Given the description of an element on the screen output the (x, y) to click on. 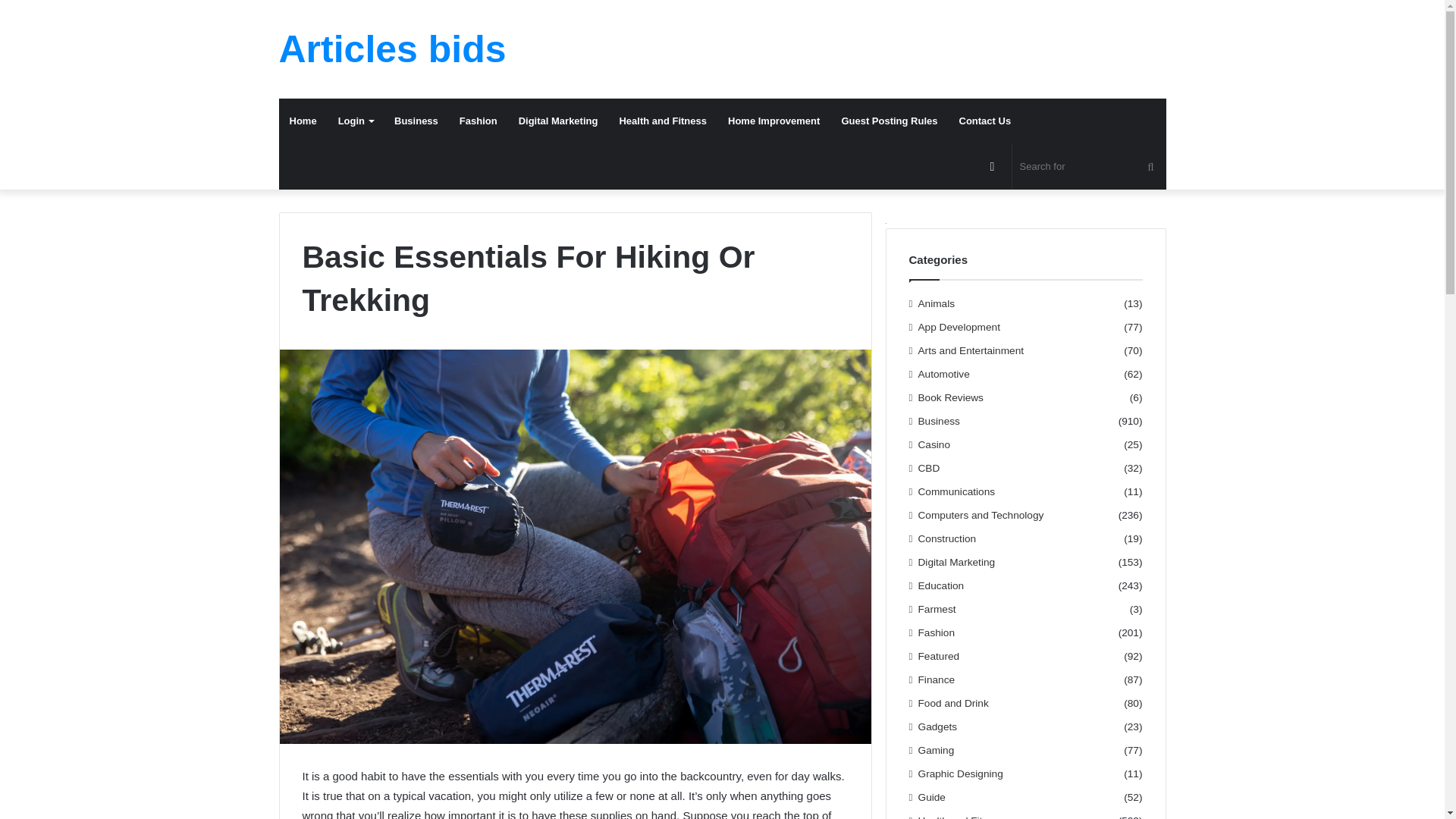
Book Reviews (951, 397)
Digital Marketing (558, 121)
Guest Posting Rules (888, 121)
Articles bids (392, 48)
Business (416, 121)
Animals (936, 303)
Farmest (937, 609)
Finance (936, 679)
Business (938, 421)
Digital Marketing (956, 562)
Fashion (478, 121)
Food and Drink (953, 703)
Health and Fitness (662, 121)
Contact Us (985, 121)
Arts and Entertainment (971, 350)
